Given the description of an element on the screen output the (x, y) to click on. 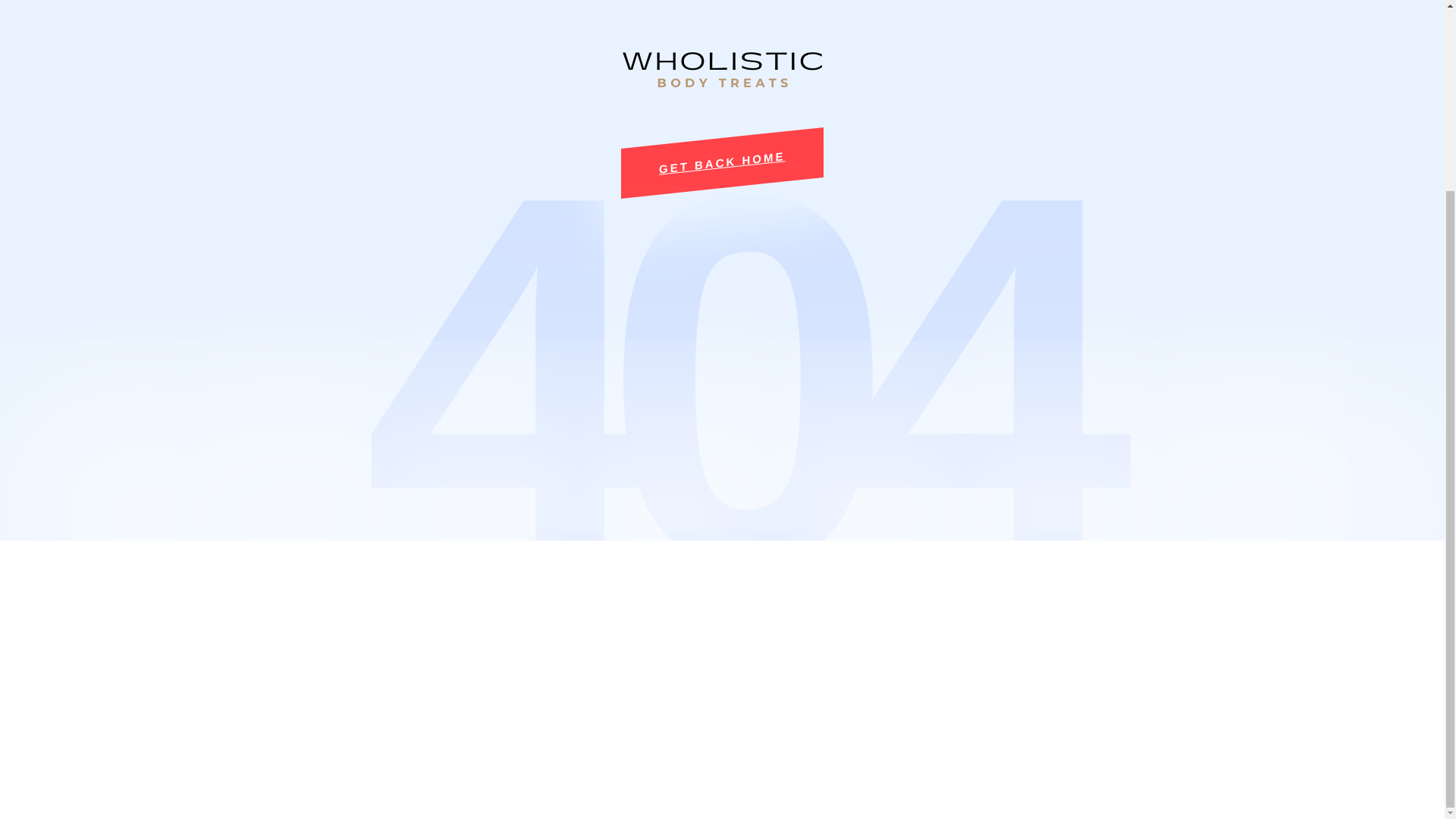
GET BACK HOME (722, 152)
Wholistic Body Treats Logo (722, 68)
